Given the description of an element on the screen output the (x, y) to click on. 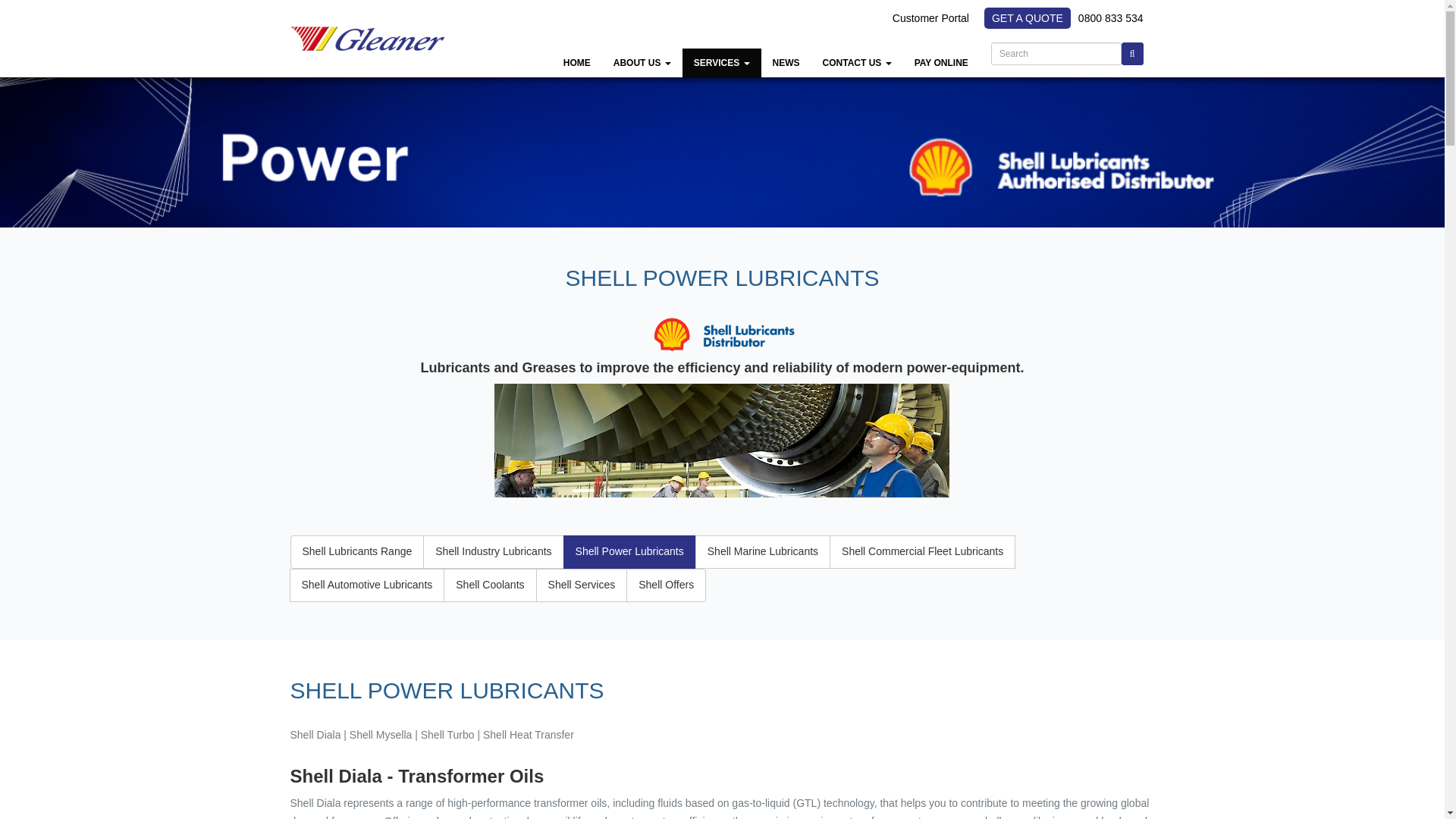
0800 833 534 (1110, 18)
GET A QUOTE (1027, 17)
Customer Portal (934, 18)
HOME (576, 62)
ABOUT US (642, 62)
SERVICES (721, 62)
